Given the description of an element on the screen output the (x, y) to click on. 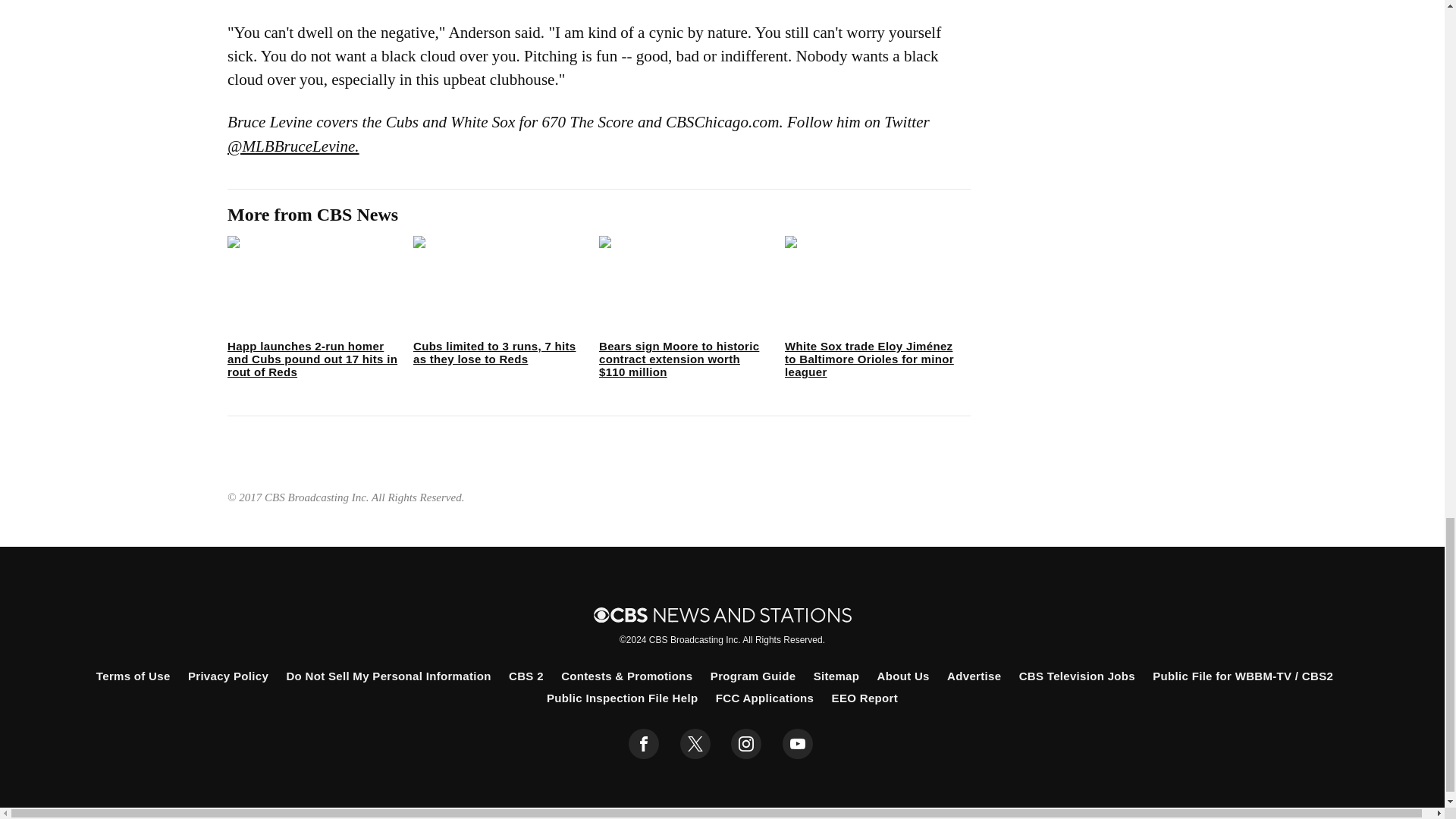
youtube (797, 743)
facebook (643, 743)
twitter (694, 743)
instagram (745, 743)
